Given the description of an element on the screen output the (x, y) to click on. 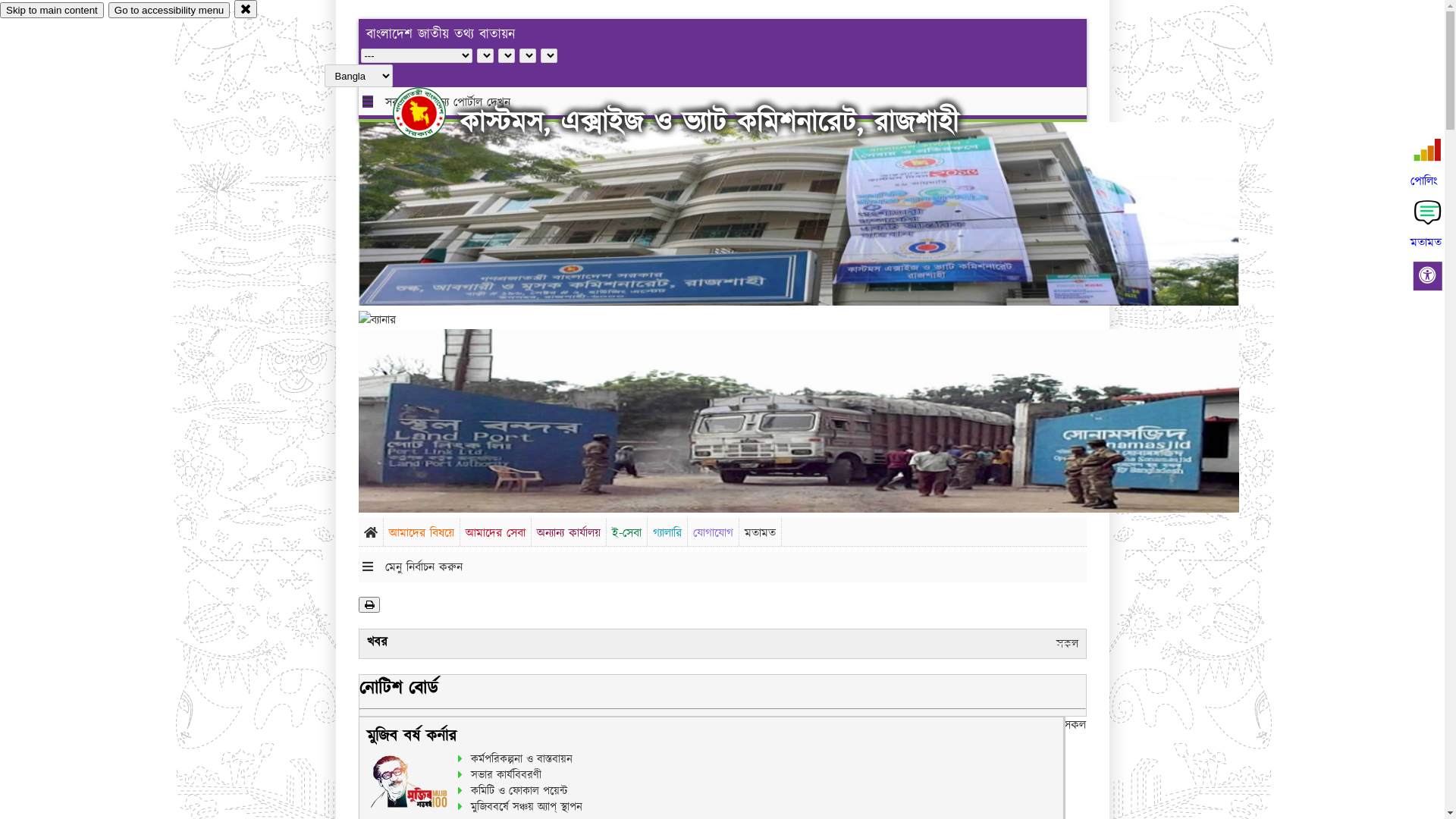
Skip to main content Element type: text (51, 10)

                
             Element type: hover (431, 112)
close Element type: hover (245, 9)
Go to accessibility menu Element type: text (168, 10)
